Given the description of an element on the screen output the (x, y) to click on. 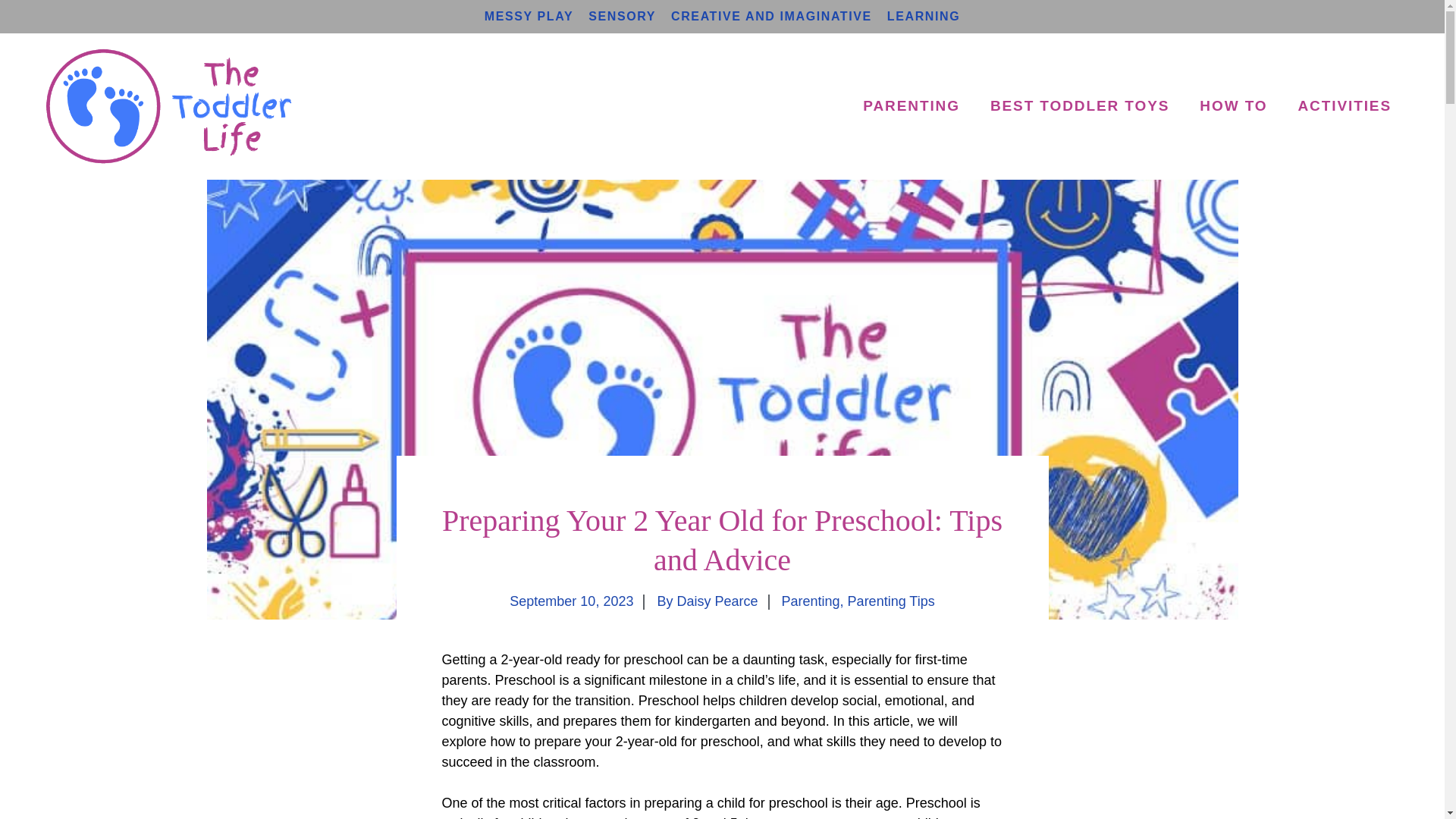
ACTIVITIES (1344, 105)
BEST TODDLER TOYS (1080, 105)
Daisy Pearce (717, 601)
PARENTING (911, 105)
HOW TO (1233, 105)
Parenting (810, 601)
Parenting Tips (890, 601)
SENSORY (622, 15)
LEARNING (922, 15)
CREATIVE AND IMAGINATIVE (771, 15)
MESSY PLAY (528, 15)
